Given the description of an element on the screen output the (x, y) to click on. 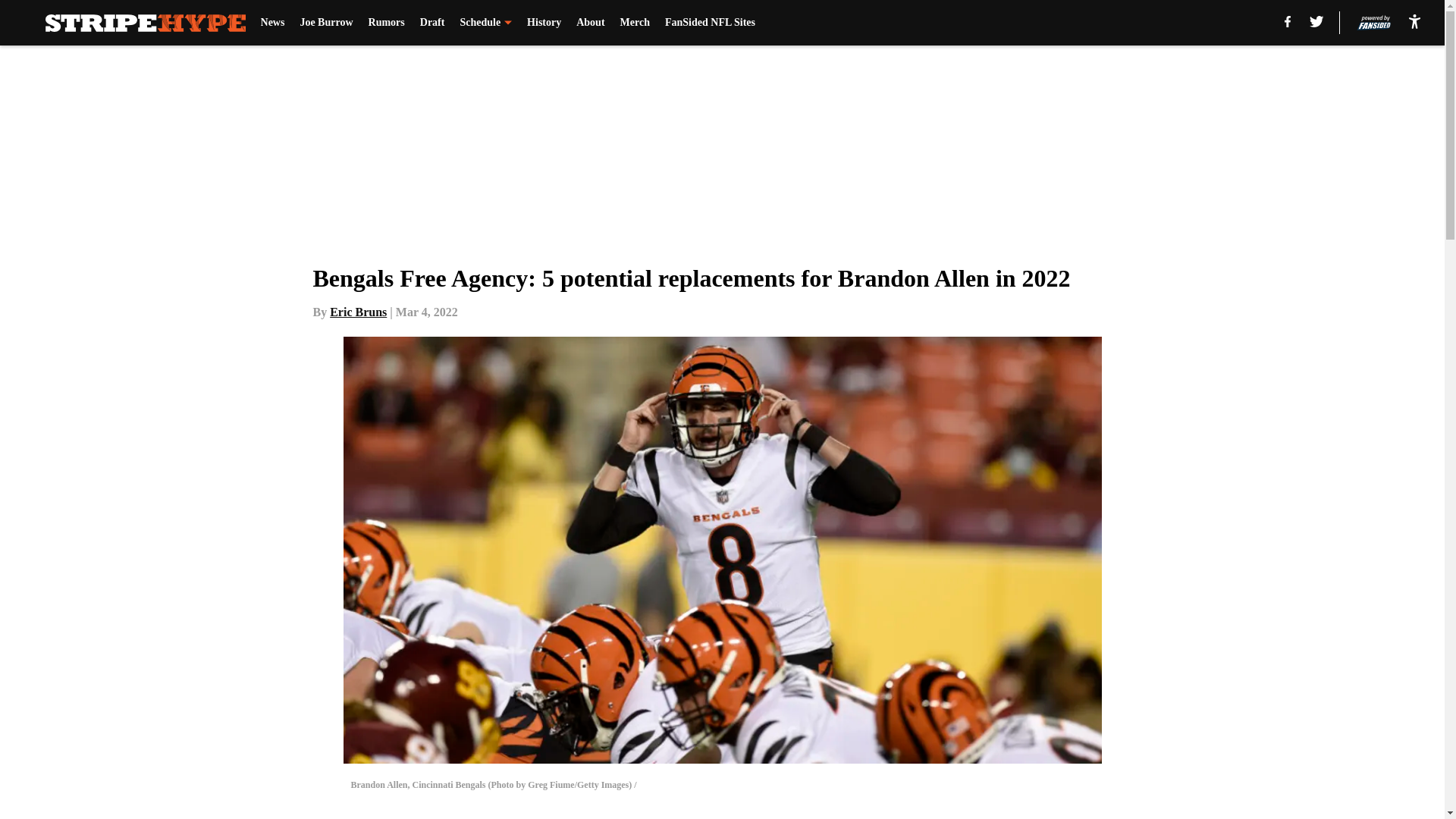
News (272, 22)
Joe Burrow (325, 22)
FanSided NFL Sites (710, 22)
History (543, 22)
Merch (634, 22)
About (590, 22)
Eric Bruns (358, 311)
Rumors (386, 22)
Draft (432, 22)
